Given the description of an element on the screen output the (x, y) to click on. 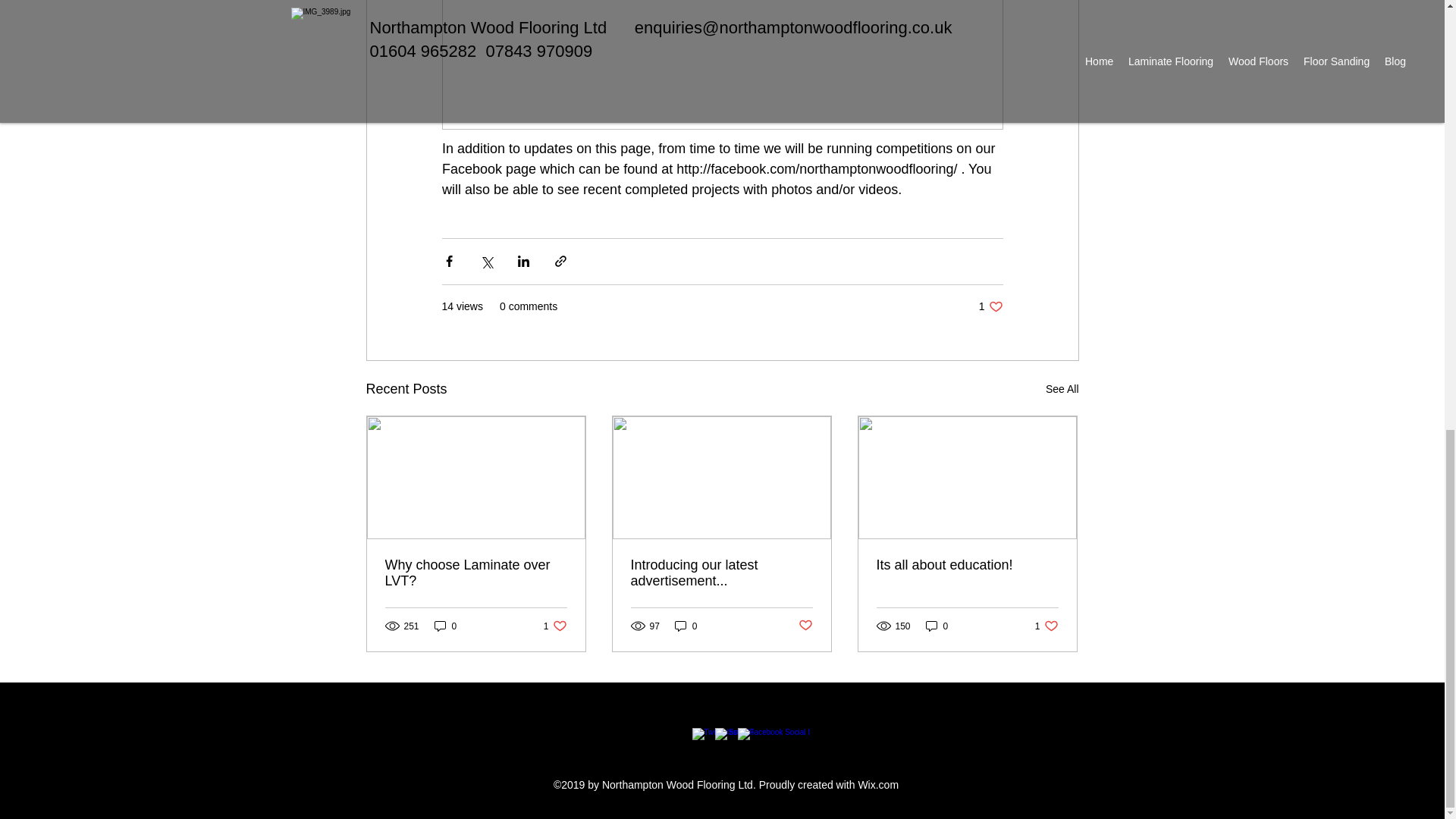
Why choose Laminate over LVT? (476, 572)
Introducing our latest advertisement... (555, 626)
0 (721, 572)
0 (685, 626)
Post not marked as liked (445, 626)
0 (1046, 626)
Its all about education! (804, 625)
See All (937, 626)
